Given the description of an element on the screen output the (x, y) to click on. 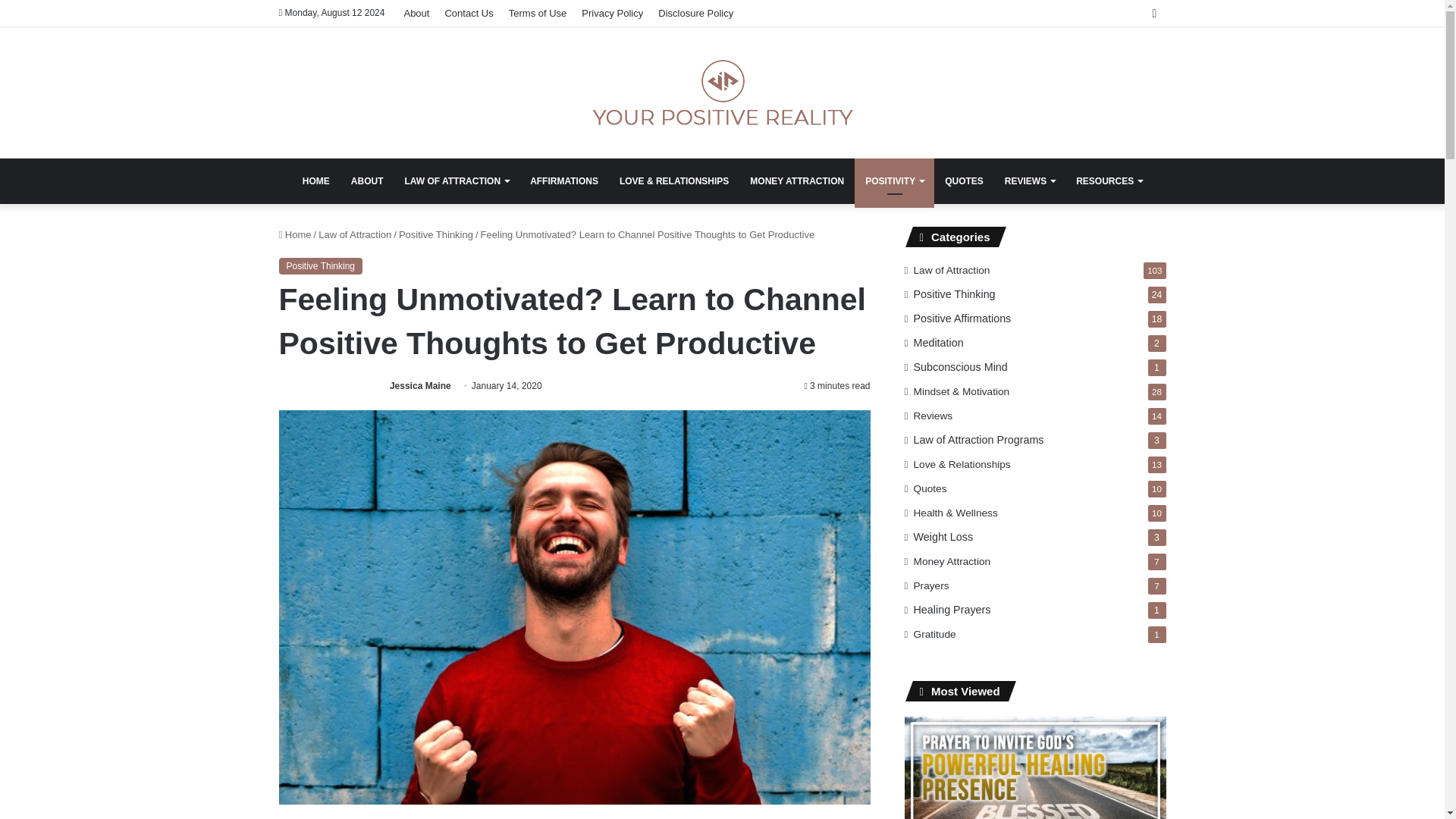
Privacy Policy (611, 13)
Disclosure Policy (695, 13)
Home (295, 234)
Jessica Maine (420, 385)
QUOTES (964, 180)
RESOURCES (1109, 180)
Jessica Maine (420, 385)
Positive Thinking (435, 234)
ABOUT (367, 180)
LAW OF ATTRACTION (456, 180)
